Given the description of an element on the screen output the (x, y) to click on. 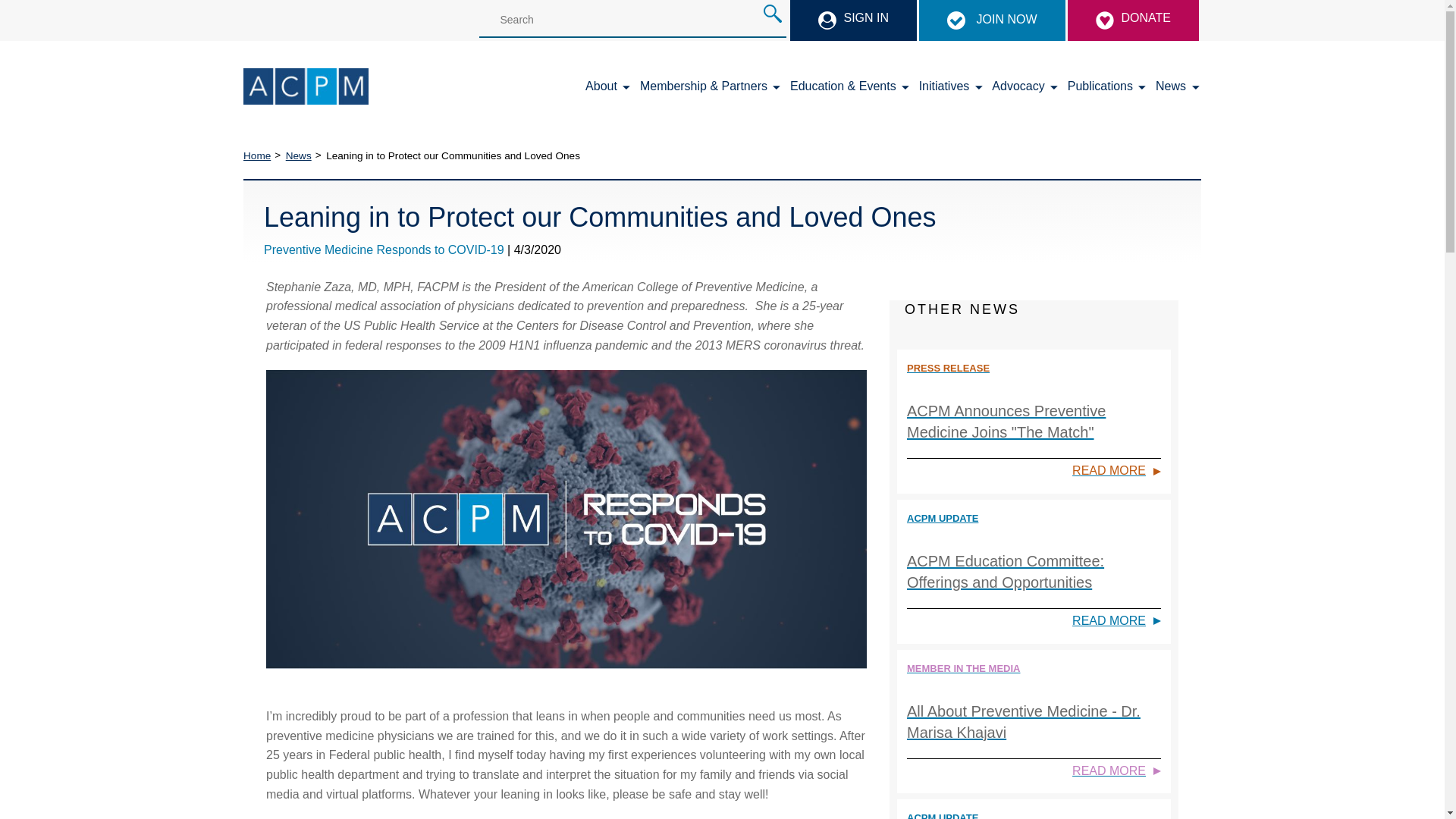
JOIN NOW (992, 19)
JOIN NOW (991, 20)
DONATE (1132, 20)
Site Logo (305, 85)
Submit search (772, 13)
SIGN IN (853, 20)
